Given the description of an element on the screen output the (x, y) to click on. 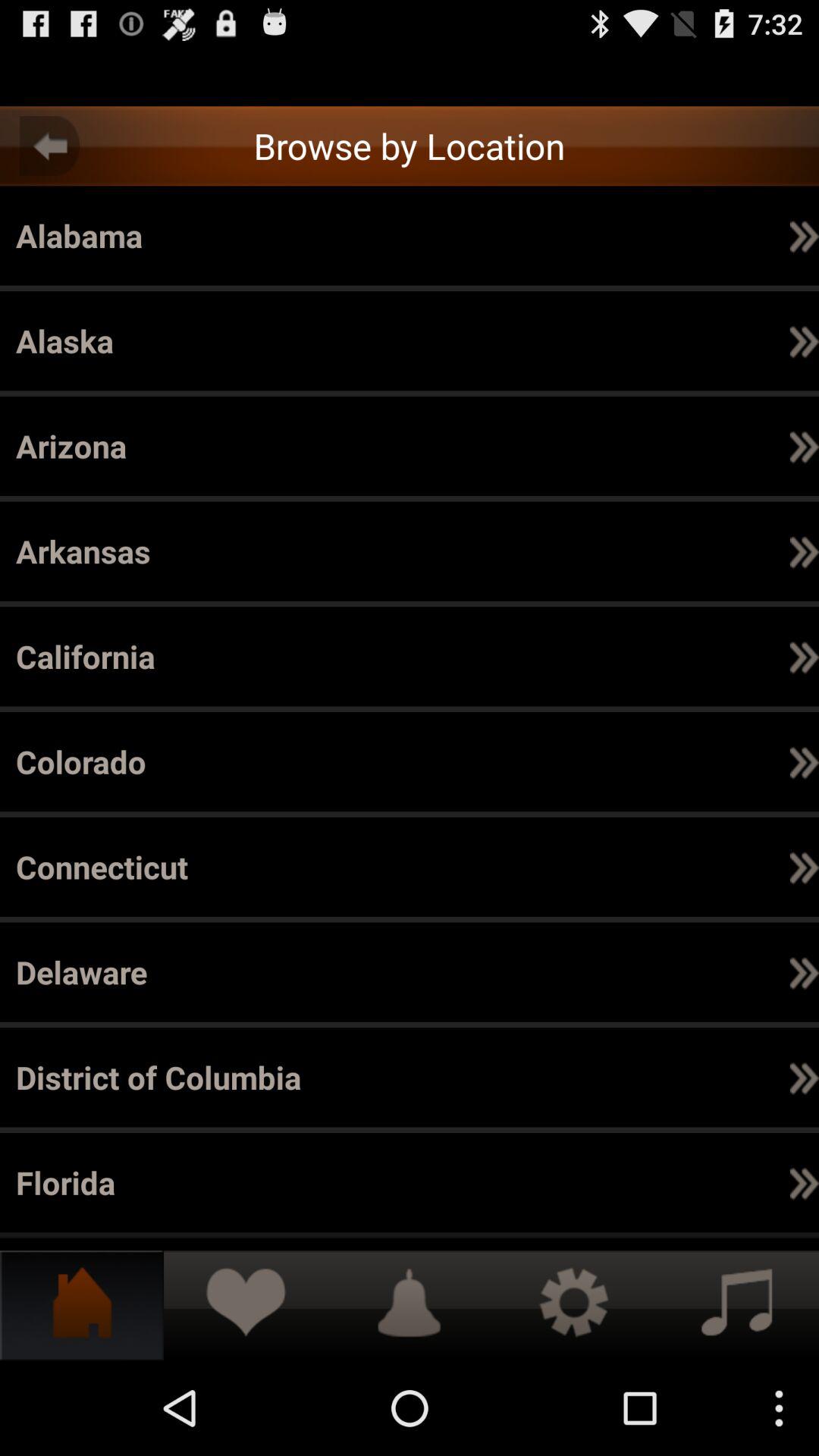
turn off the icon next to the   contra costa item (658, 972)
